Given the description of an element on the screen output the (x, y) to click on. 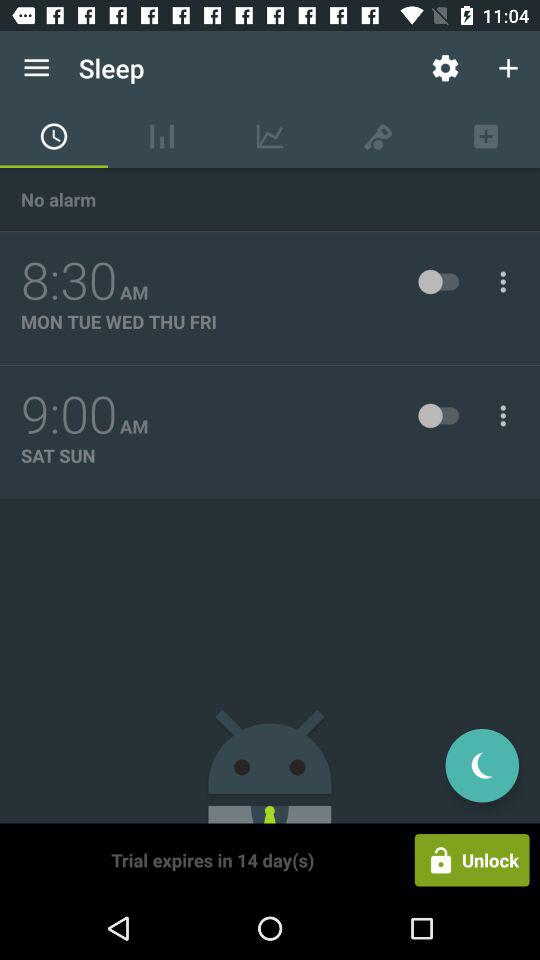
swipe until the 9:00 (69, 415)
